Given the description of an element on the screen output the (x, y) to click on. 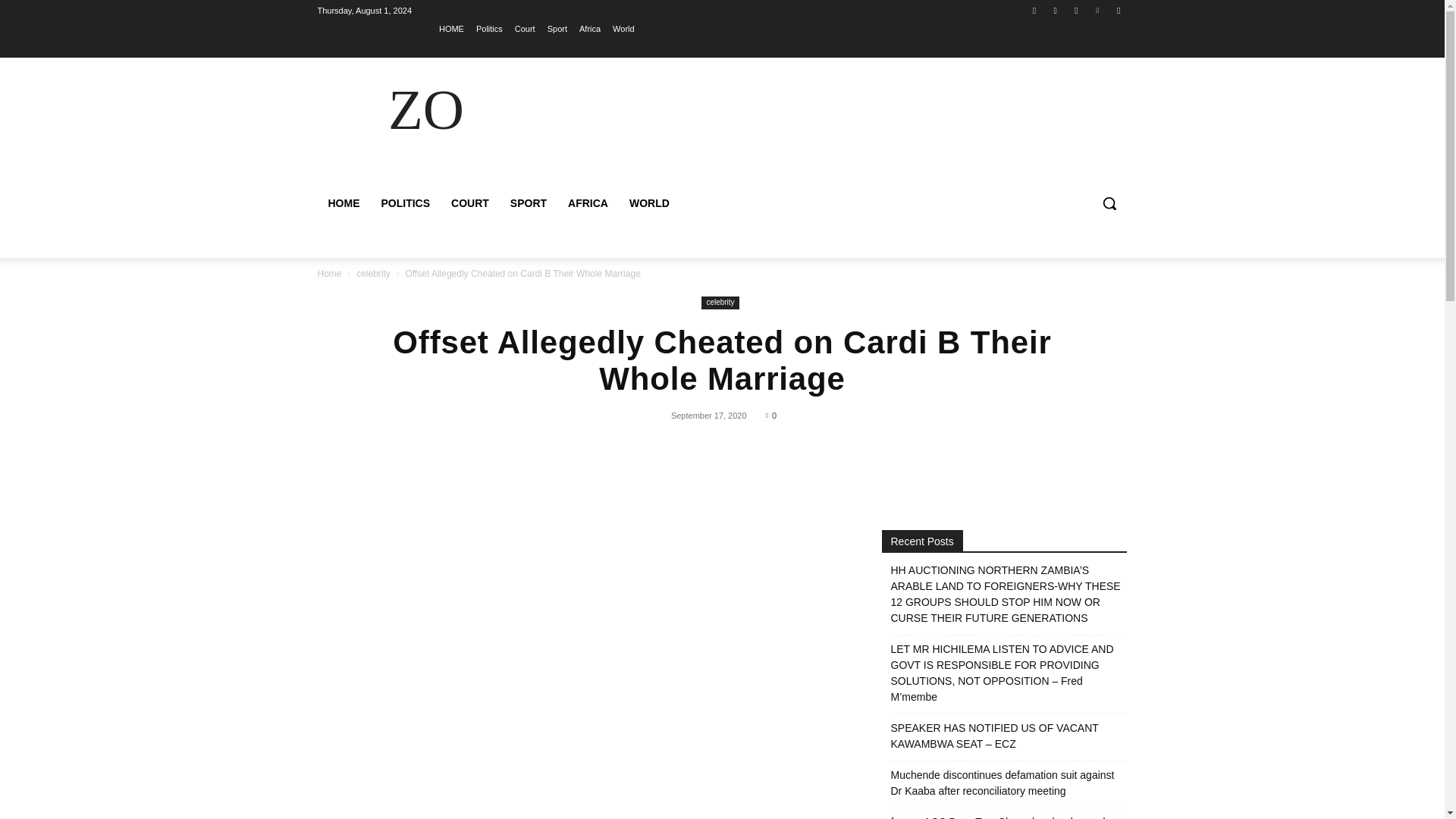
Africa (589, 28)
SPORT (528, 203)
WORLD (648, 203)
ZO (425, 109)
HOME (451, 28)
Instagram (1055, 9)
Court (525, 28)
View all posts in celebrity (373, 273)
Youtube (1117, 9)
Twitter (1075, 9)
HOME (343, 203)
Politics (489, 28)
Facebook (1034, 9)
Vimeo (1097, 9)
celebrity (373, 273)
